Given the description of an element on the screen output the (x, y) to click on. 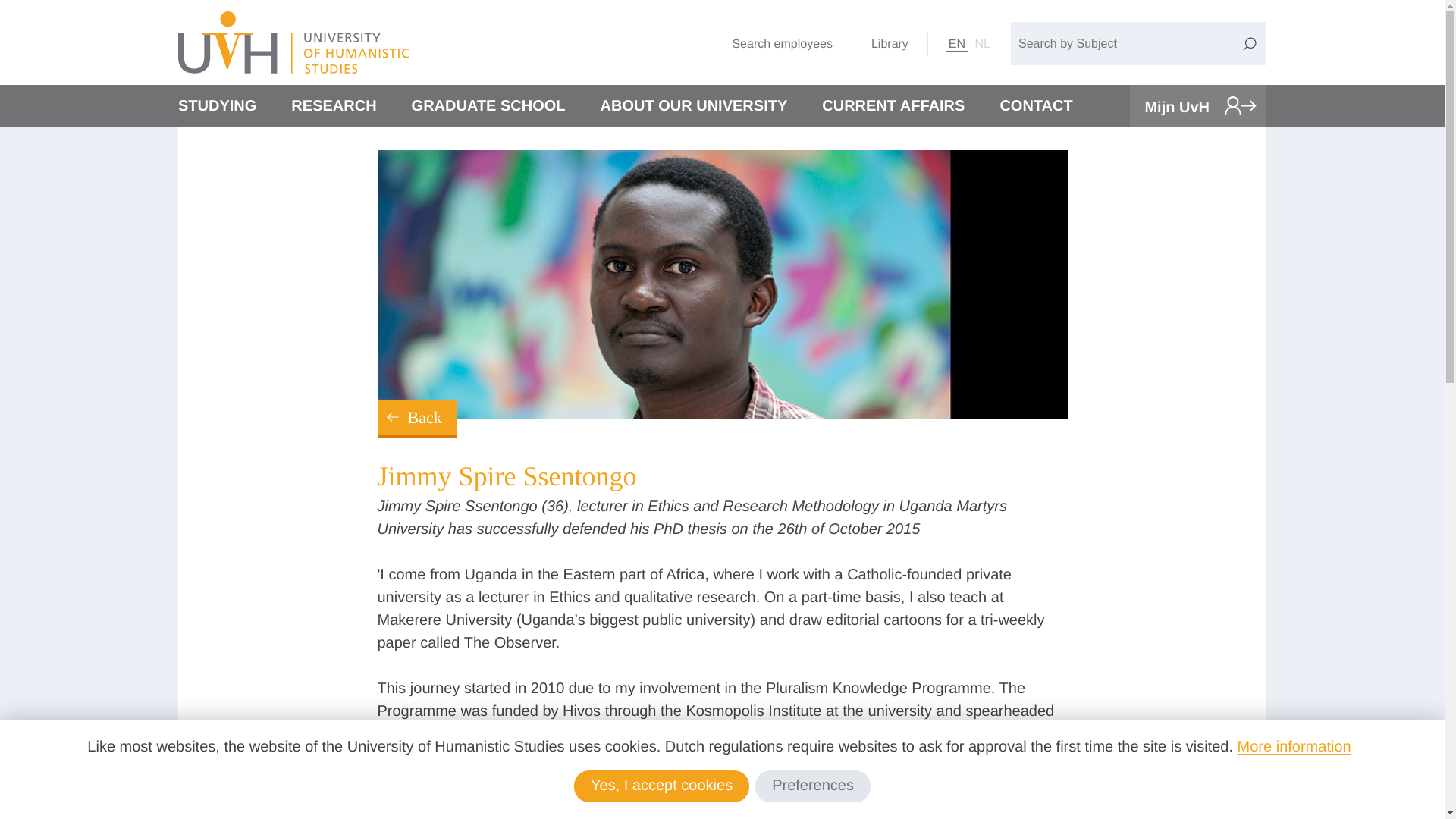
Search employees (781, 44)
Library (889, 44)
EN (956, 44)
Preferences (812, 786)
Opens in a new window (1197, 106)
More information (1294, 746)
STUDYING (217, 106)
Yes, I accept cookies (661, 786)
NL (982, 44)
